Given the description of an element on the screen output the (x, y) to click on. 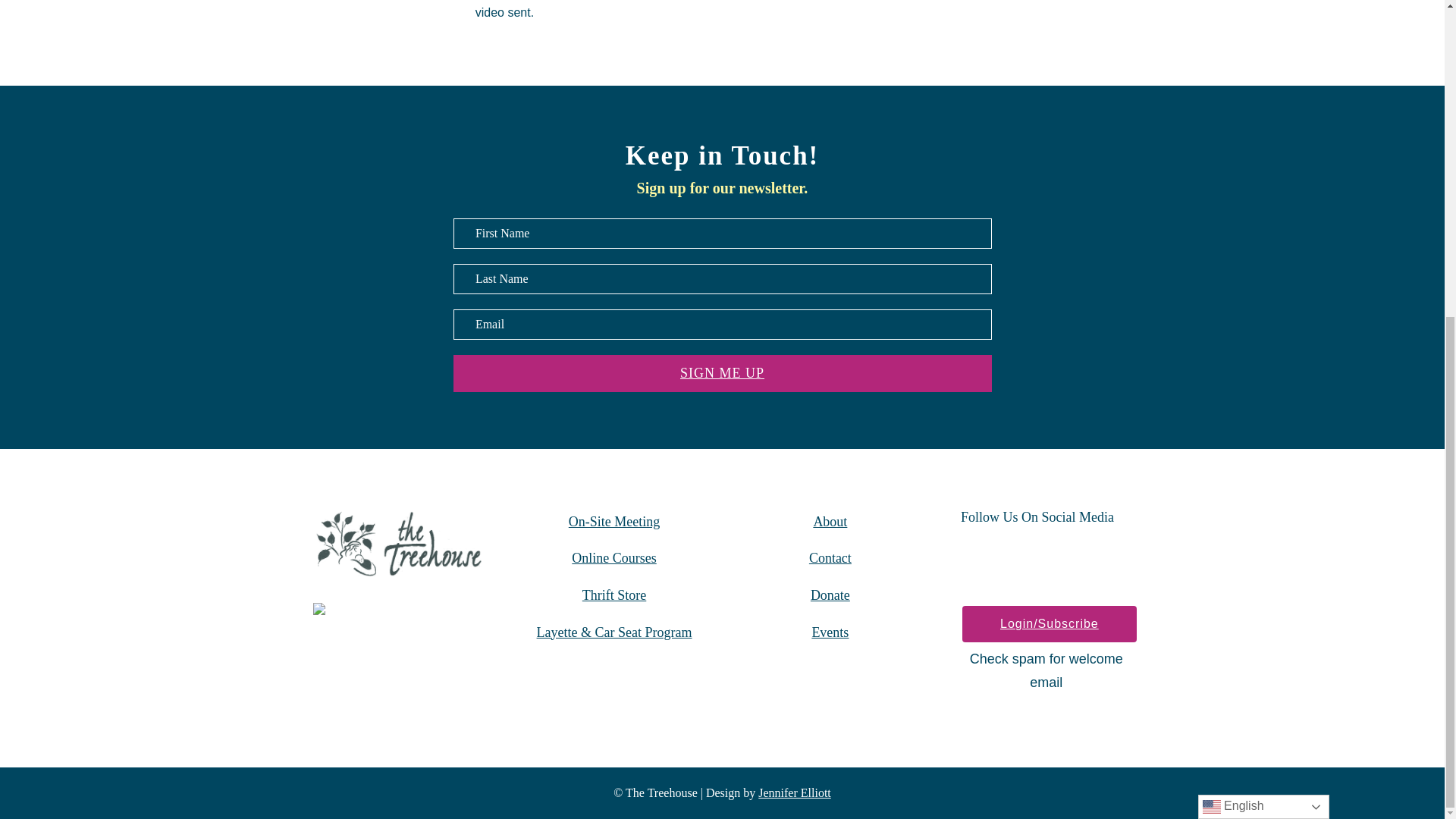
Follow on LinkedIn (1095, 559)
Follow on X (1056, 559)
Follow on Facebook (977, 559)
The Treehouse (398, 543)
Follow on Instagram (1016, 559)
